Given the description of an element on the screen output the (x, y) to click on. 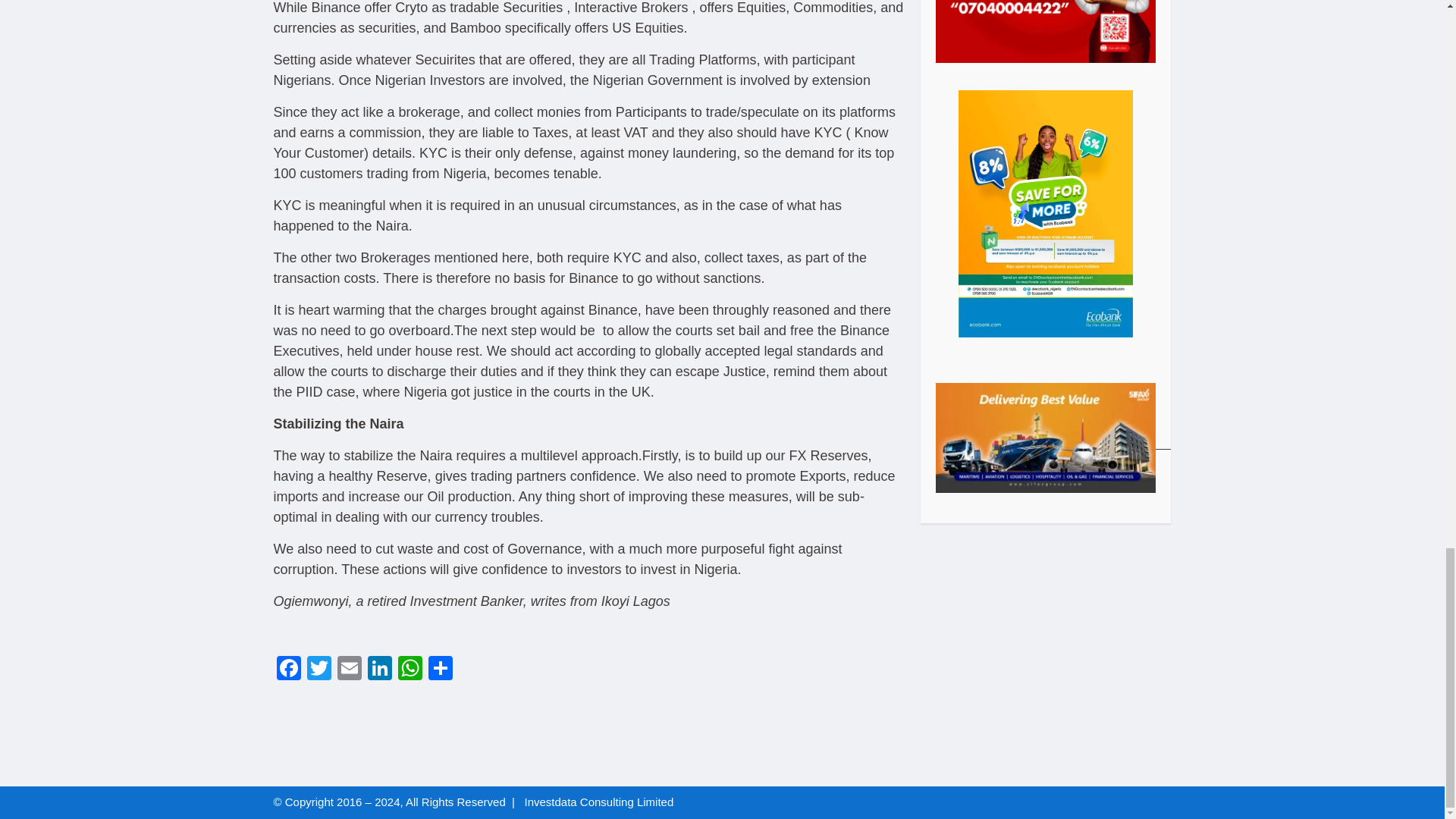
WhatsApp (409, 669)
Twitter (317, 669)
WhatsApp (409, 669)
Facebook (287, 669)
Share (439, 669)
Facebook (287, 669)
Email (348, 669)
LinkedIn (379, 669)
LinkedIn (379, 669)
Twitter (317, 669)
Email (348, 669)
